Given the description of an element on the screen output the (x, y) to click on. 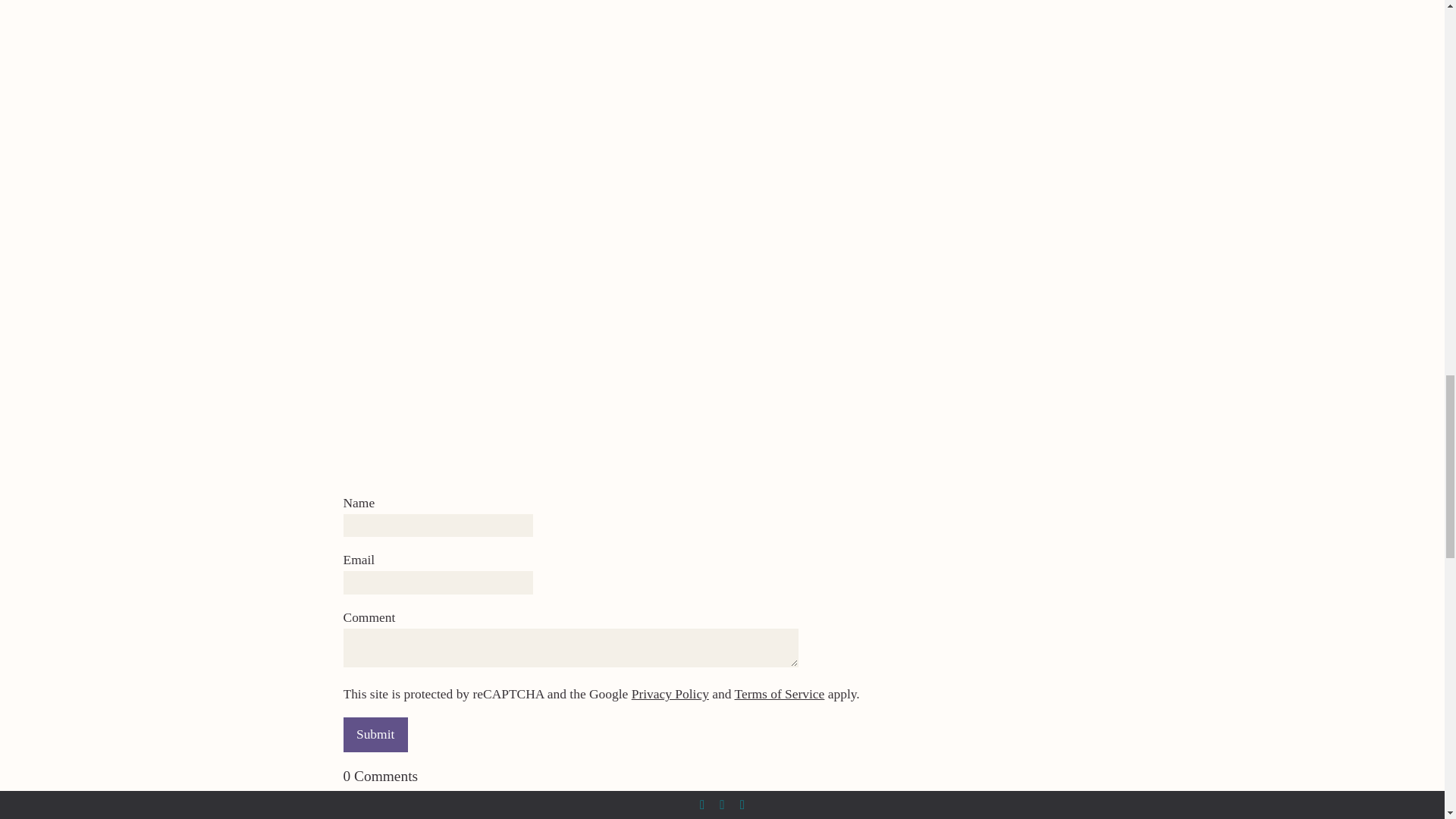
Terms of Service (778, 693)
Submit (374, 734)
Privacy Policy (670, 693)
